Given the description of an element on the screen output the (x, y) to click on. 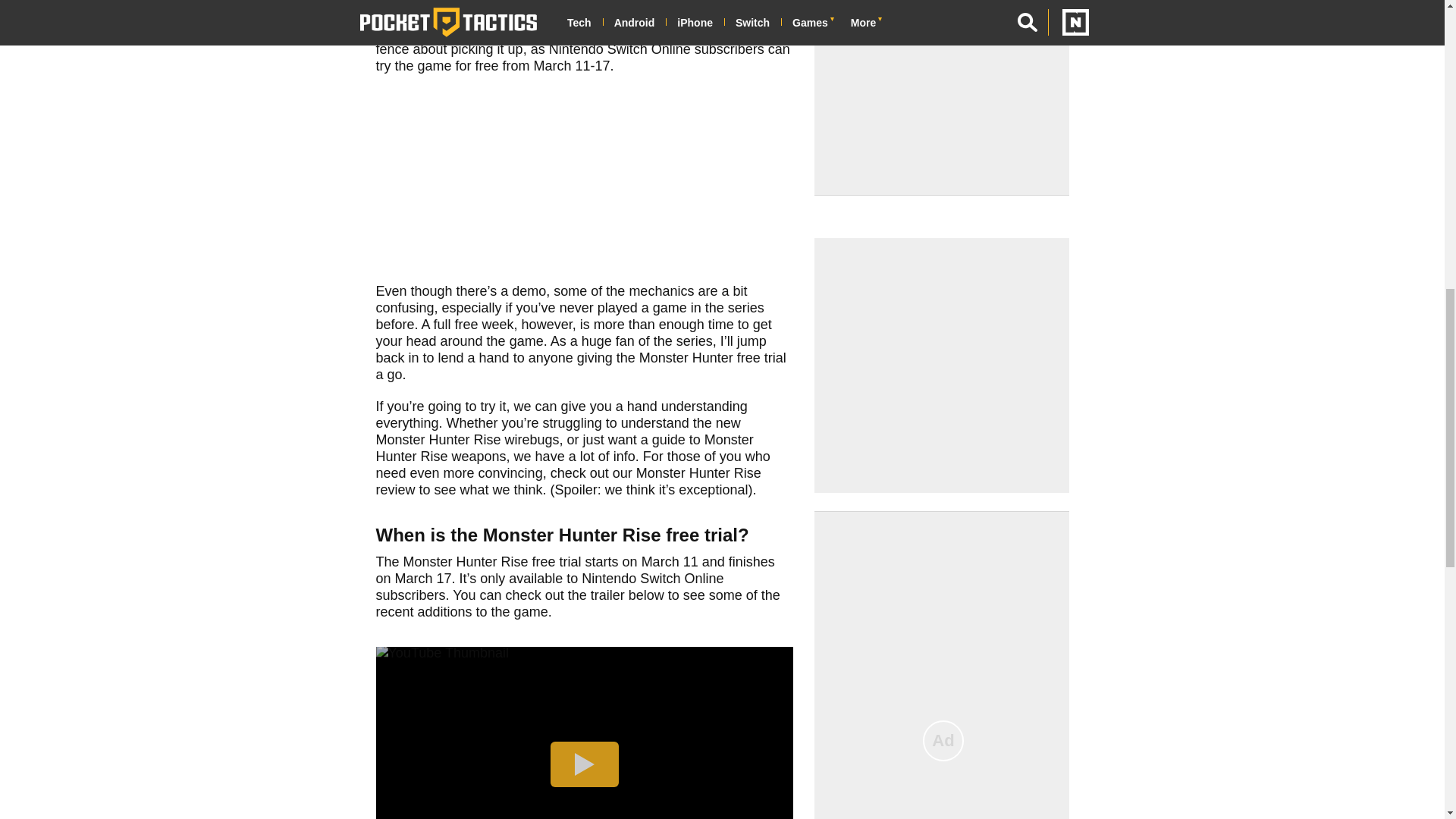
Monster Hunter Rise weapons (564, 448)
Monster Hunter Rise wirebugs (467, 439)
Monster Hunter Rise review (568, 481)
Nintendo Switch Online (619, 48)
Monster Hunter Rise (437, 3)
